Given the description of an element on the screen output the (x, y) to click on. 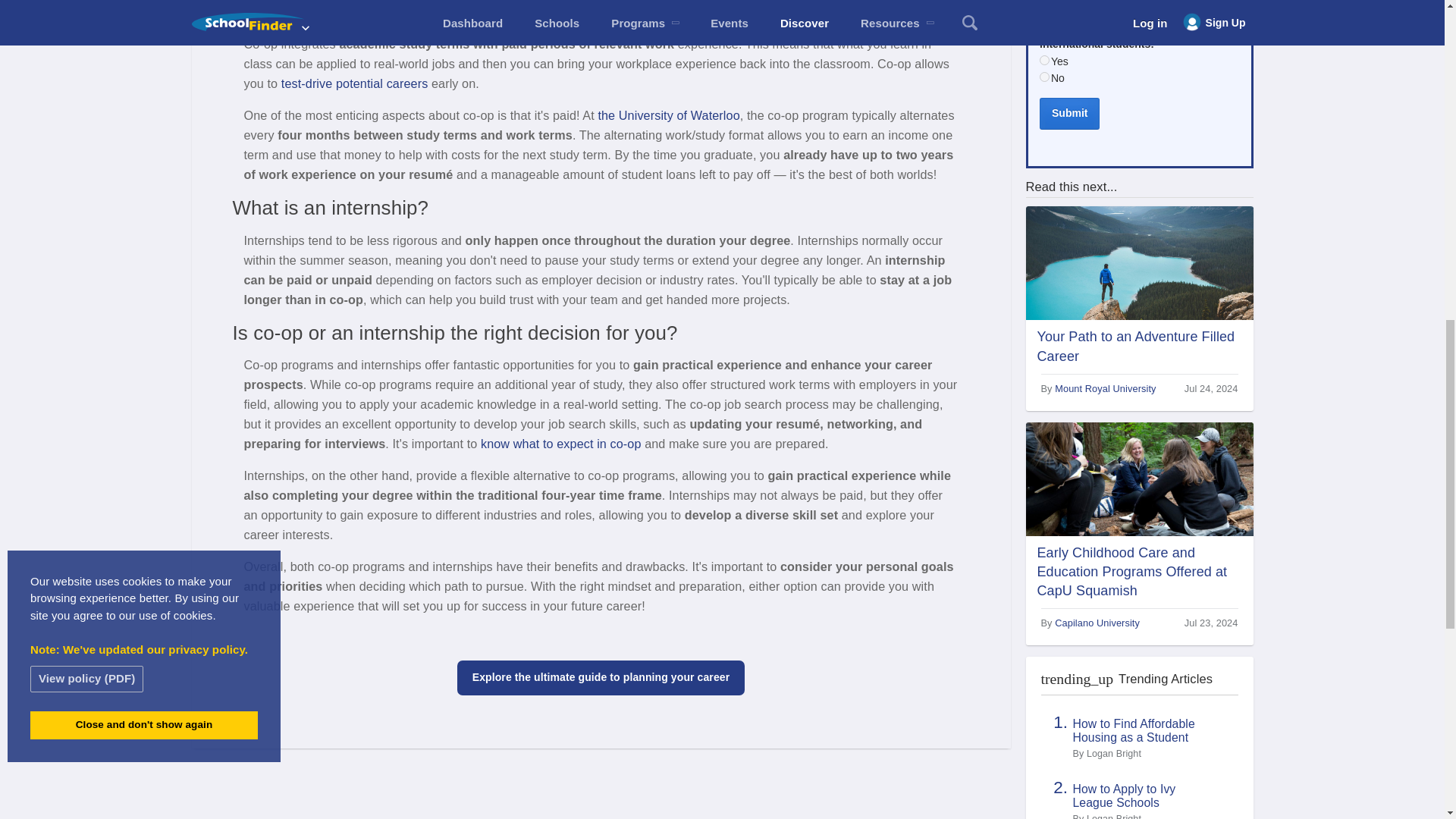
know what to expect in co-op (561, 443)
the University of Waterloo (667, 115)
test-drive potential careers (354, 83)
Explore the ultimate guide to planning your career (601, 677)
